Given the description of an element on the screen output the (x, y) to click on. 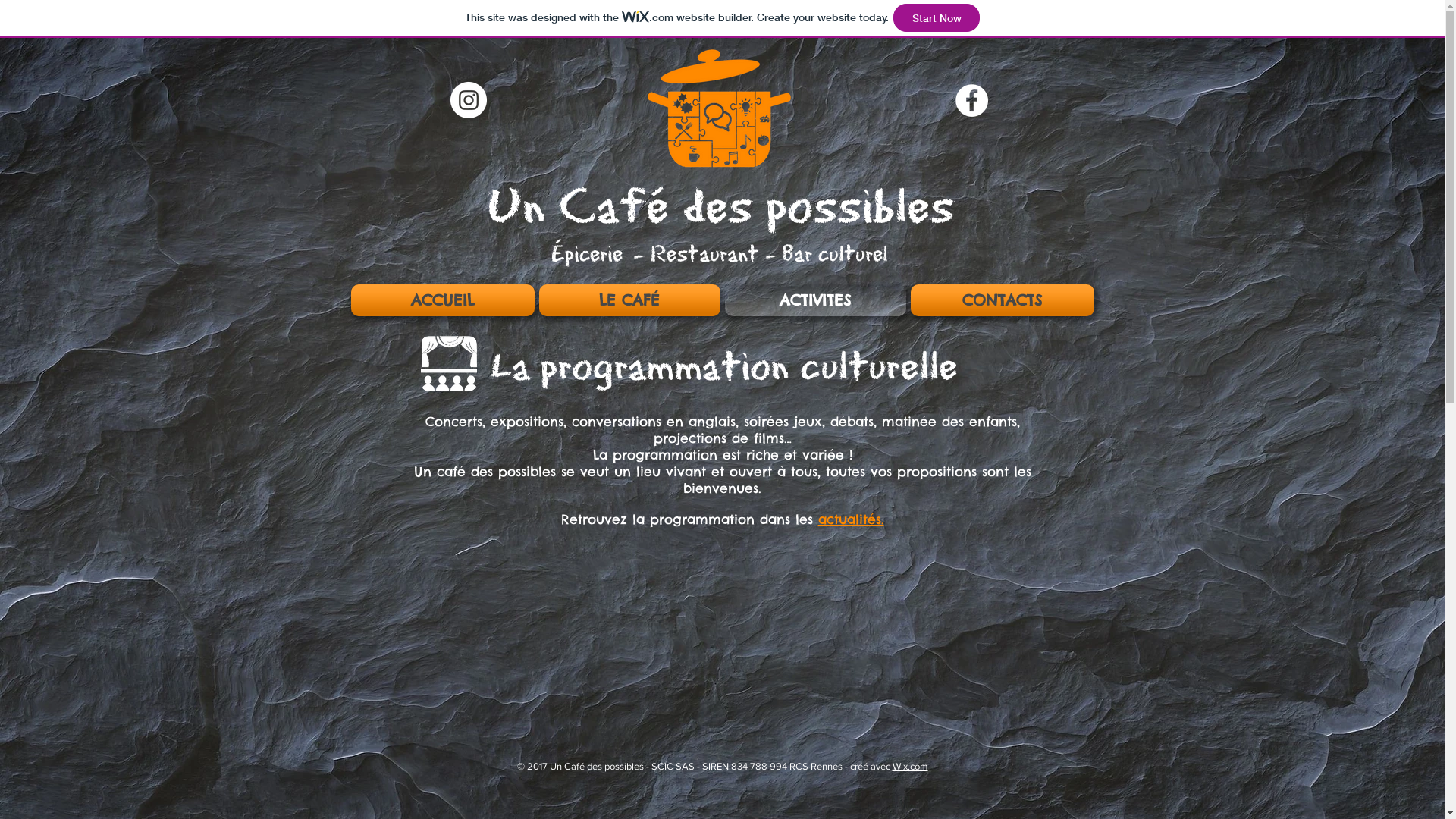
ACTIVITES Element type: text (814, 300)
ACCUEIL Element type: text (443, 300)
Wix.com Element type: text (909, 765)
CONTACTS Element type: text (1001, 300)
